Given the description of an element on the screen output the (x, y) to click on. 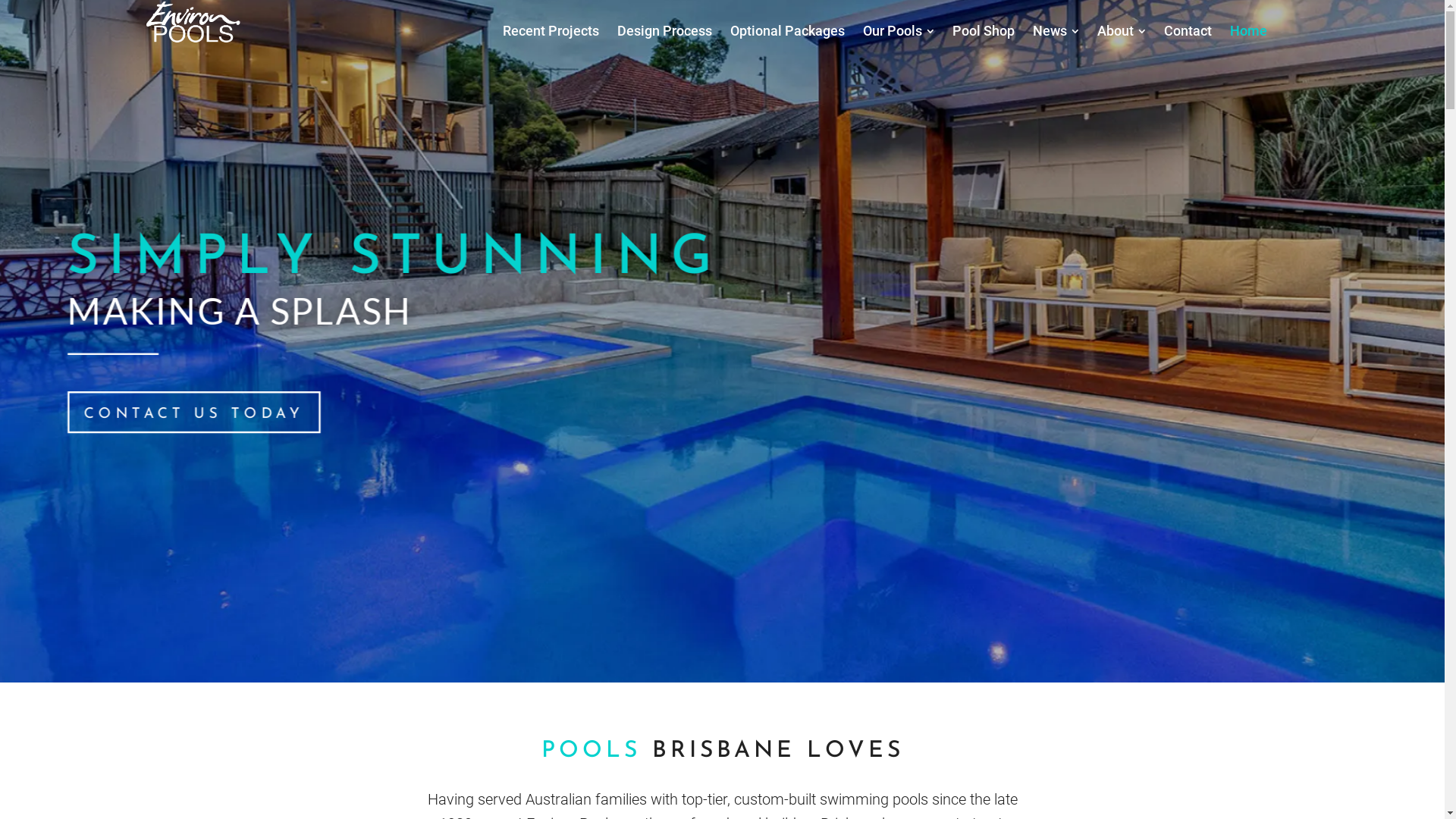
Pool Shop Element type: text (983, 31)
Our Pools Element type: text (898, 31)
Recent Projects Element type: text (550, 31)
Contact Element type: text (1187, 31)
News Element type: text (1055, 31)
Design Process Element type: text (664, 31)
environpool-logo-white Element type: hover (193, 22)
About Element type: text (1121, 31)
CONTACT US TODAY Element type: text (172, 408)
Home Element type: text (1248, 31)
Optional Packages Element type: text (787, 31)
